Given the description of an element on the screen output the (x, y) to click on. 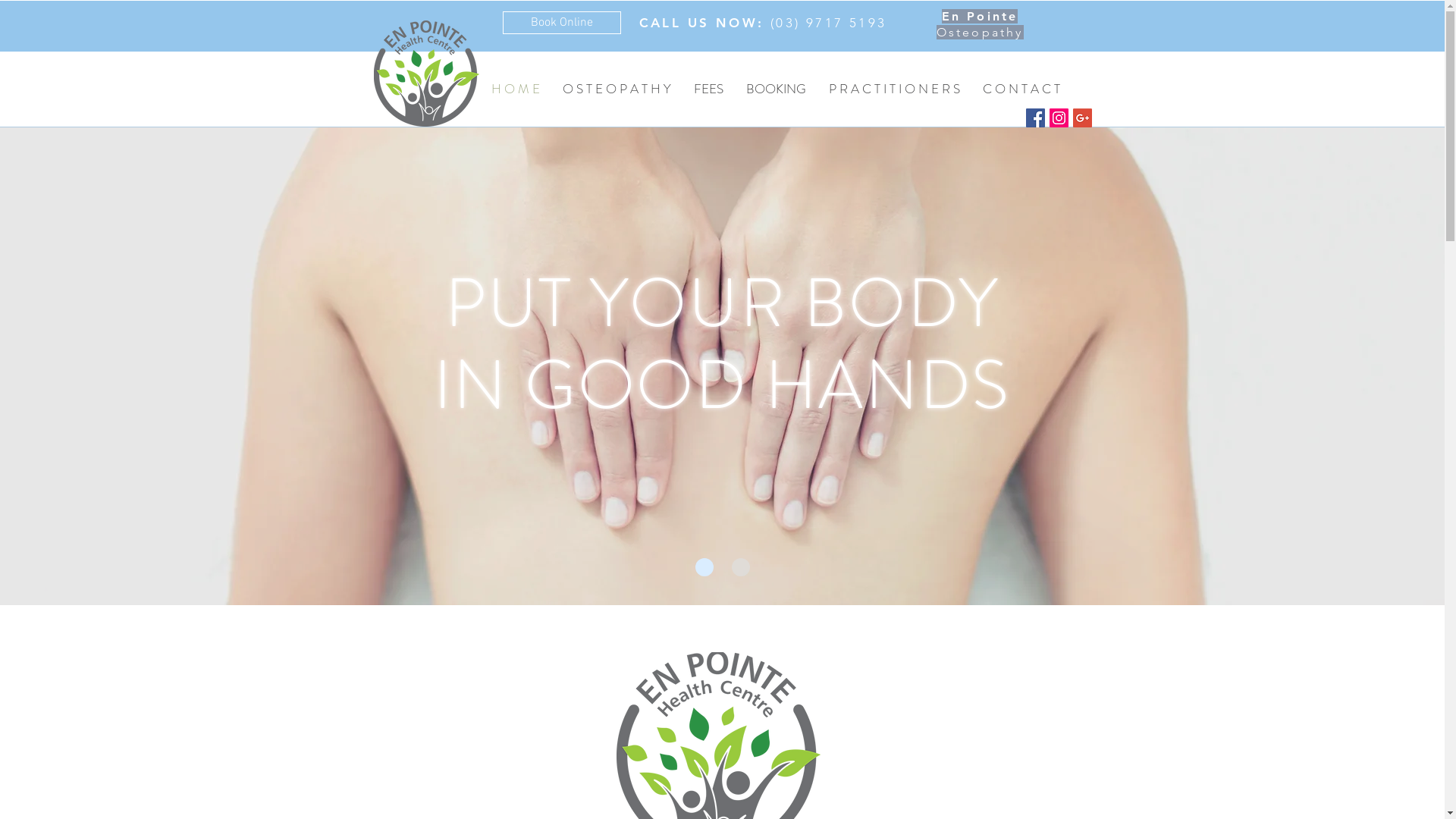
Osteopathy Element type: text (978, 32)
FA En Pointe Health reduced png.png Element type: hover (425, 73)
C O N T A C T Element type: text (1020, 87)
CALL US NOW: (03) 9717 5193 Element type: text (762, 22)
BOOKING Element type: text (775, 87)
O S T E O P A T H Y Element type: text (615, 87)
H O M E Element type: text (514, 87)
FEES Element type: text (708, 87)
P R A C T I T I O N E R S Element type: text (894, 87)
En Pointe Element type: text (979, 16)
Book Online Element type: text (561, 22)
